Given the description of an element on the screen output the (x, y) to click on. 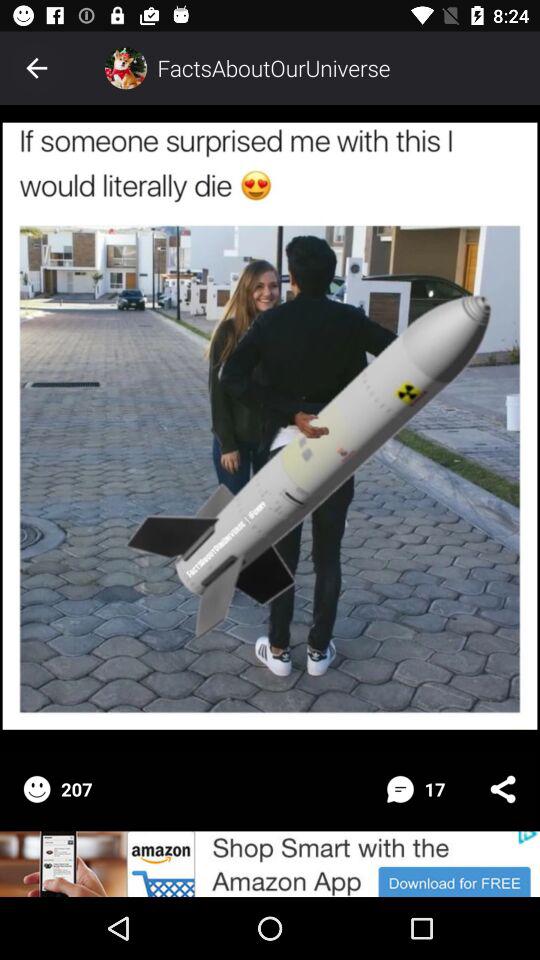
go to dp (126, 68)
